Given the description of an element on the screen output the (x, y) to click on. 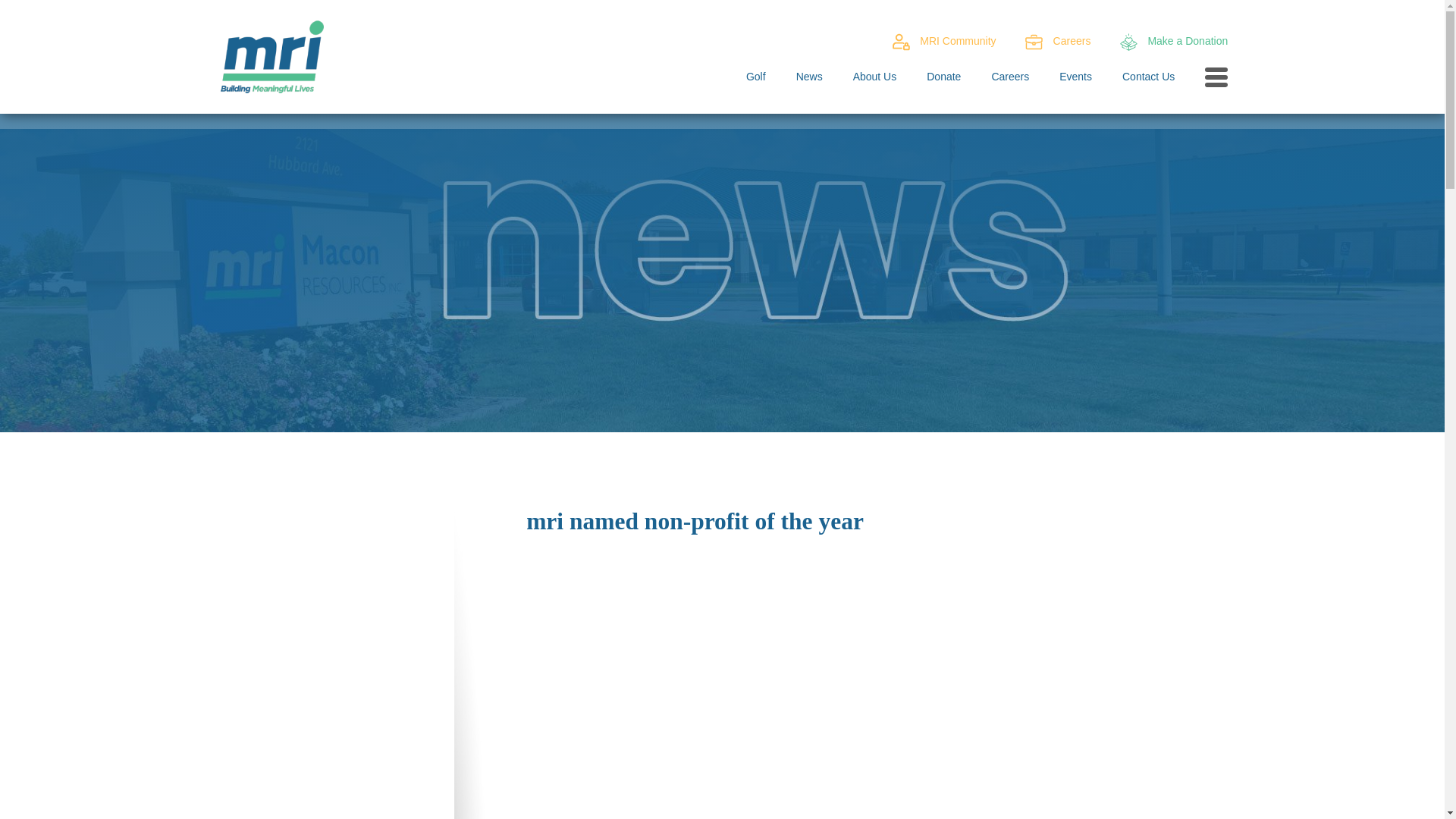
About Us (875, 77)
Make a Donation (1187, 40)
MRI Community (957, 40)
Golf (755, 77)
News (809, 77)
Careers (1071, 40)
